Given the description of an element on the screen output the (x, y) to click on. 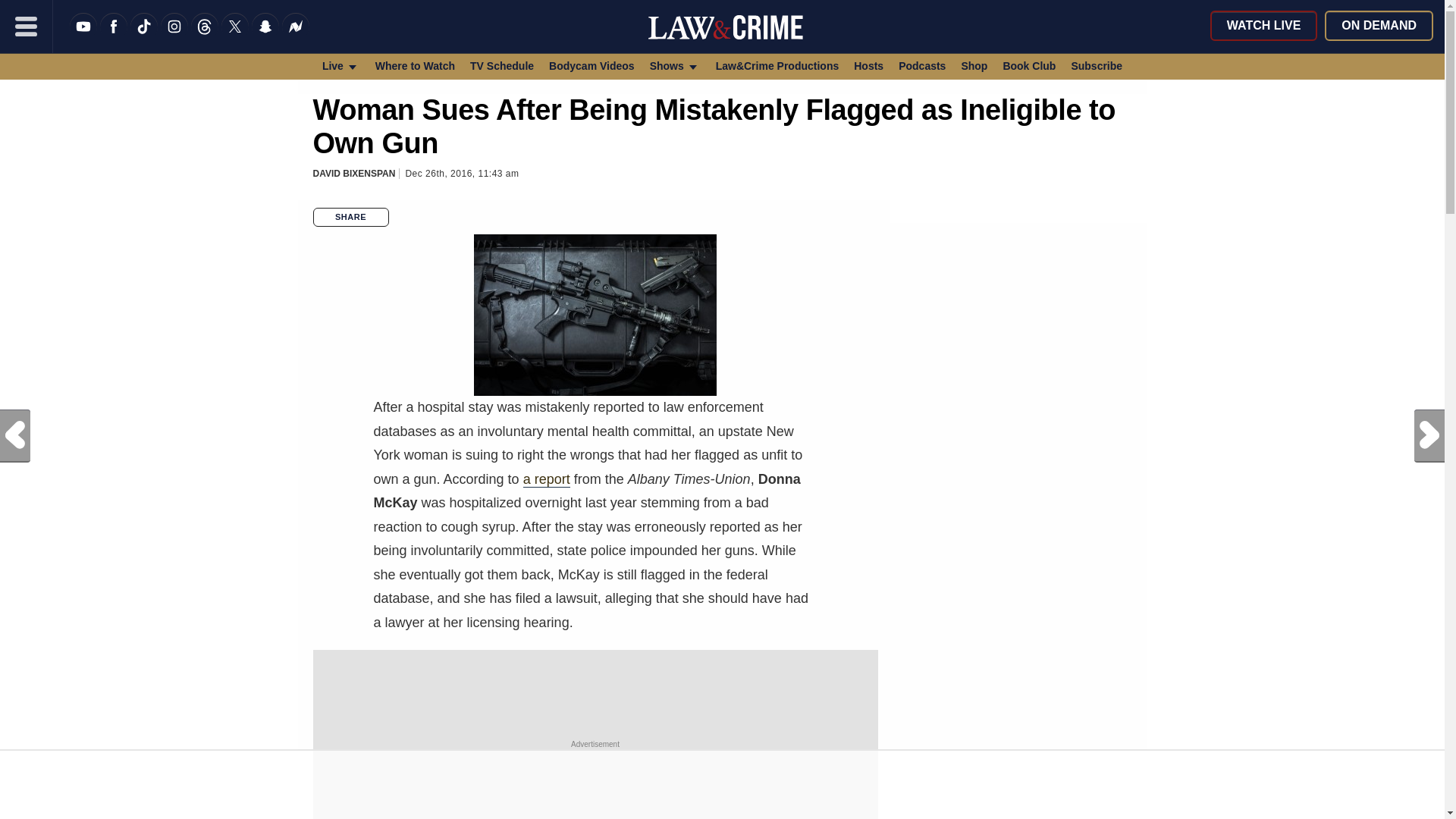
News Break (295, 35)
Like us on Facebook (114, 35)
TikTok (144, 35)
Threads (204, 35)
YouTube (83, 35)
Snapchat (265, 35)
Instagram (173, 35)
Posts by David Bixenspan (353, 173)
